Given the description of an element on the screen output the (x, y) to click on. 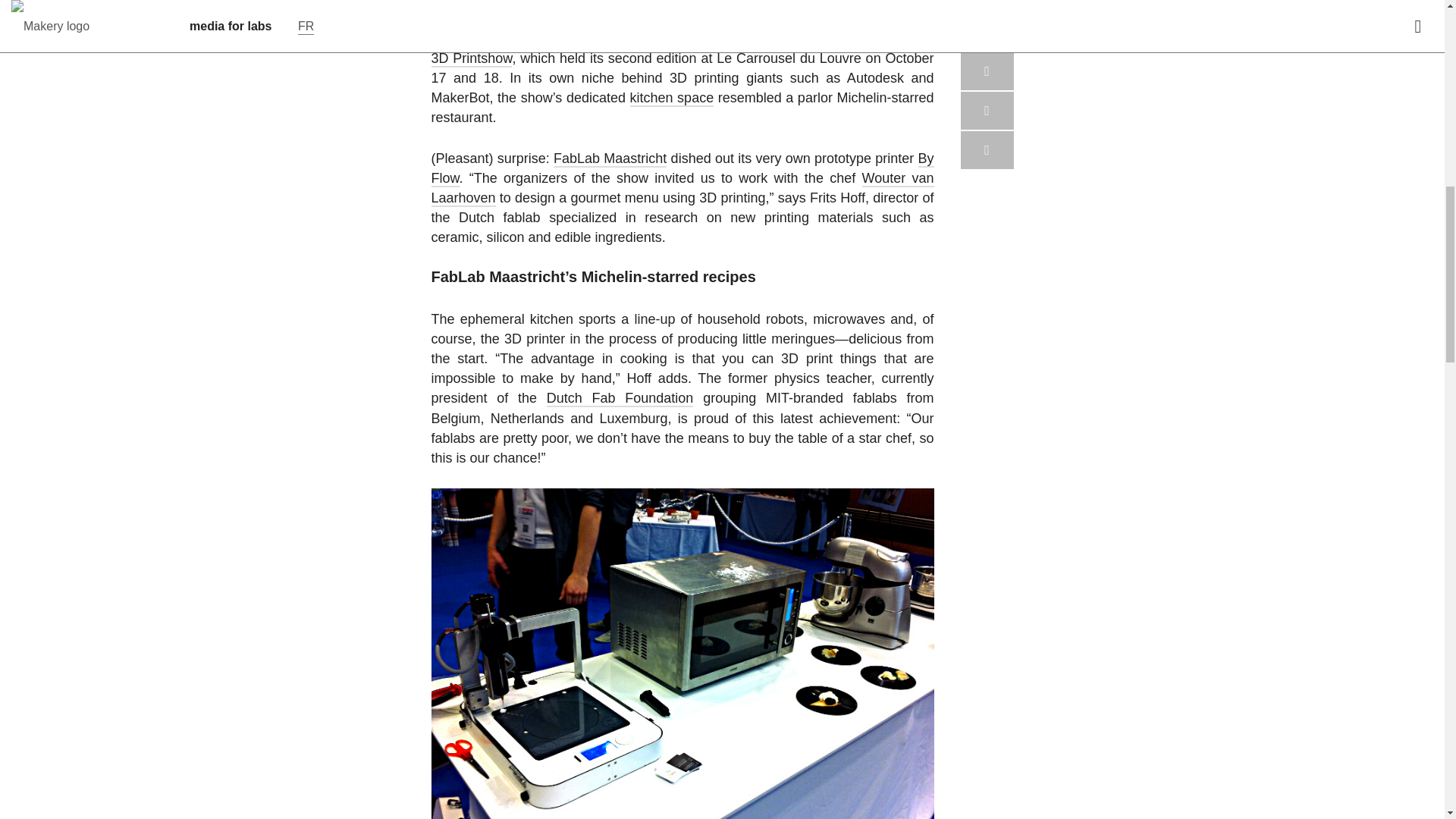
Dutch Fab Foundation (620, 398)
Wouter van Laarhoven (681, 188)
FabLab Maastricht (609, 158)
3D Printshow (471, 58)
By Flow (681, 168)
kitchen space (672, 98)
